Given the description of an element on the screen output the (x, y) to click on. 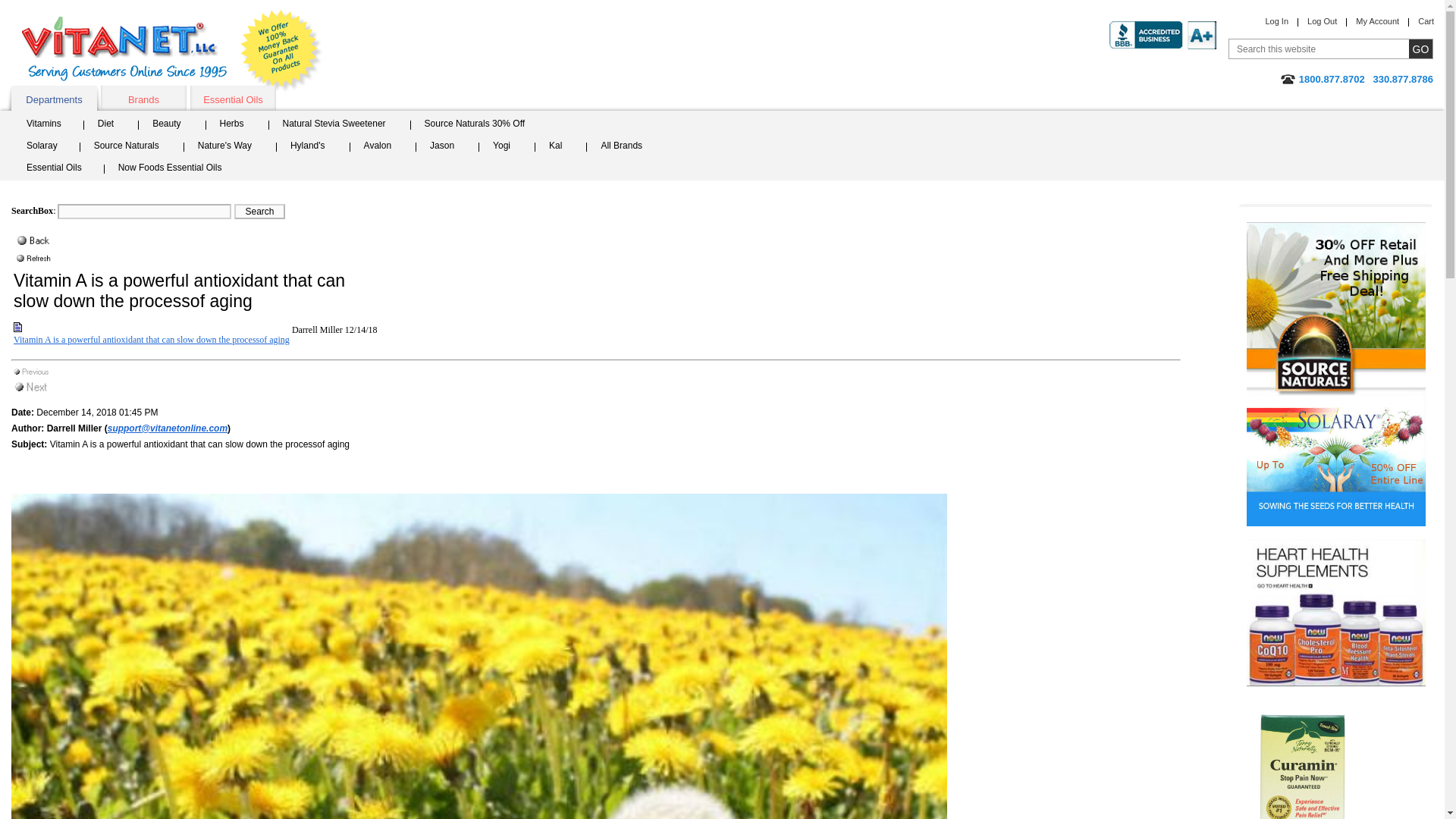
Now Foods For Hearth Health And More. (1335, 618)
Nature's Way (229, 147)
Now Foods Essential Oils (175, 169)
Log In (1276, 20)
Departments (54, 97)
Brands (143, 97)
My Account (1377, 20)
All Brands (626, 147)
Natural Stevia Sweetener (338, 125)
go (1420, 48)
